Given the description of an element on the screen output the (x, y) to click on. 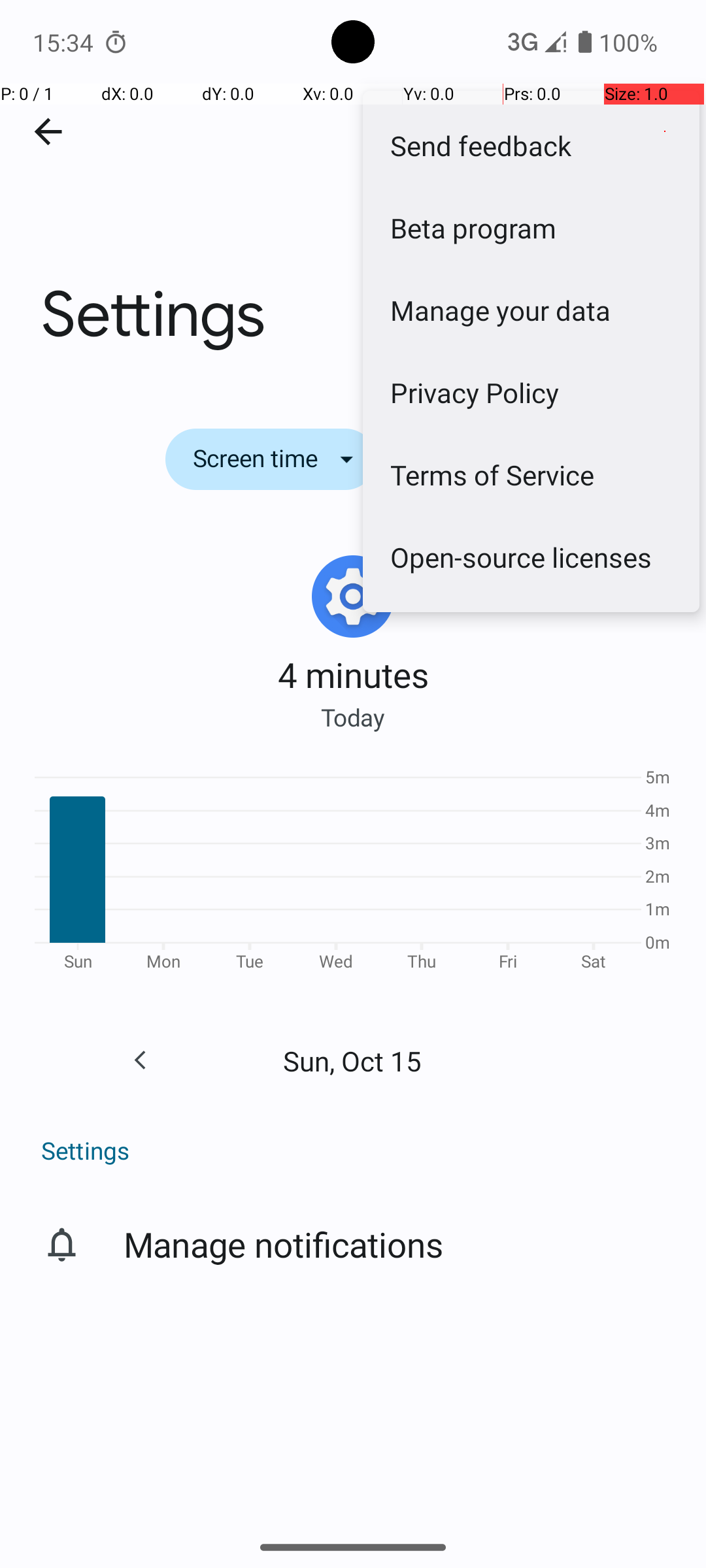
Send feedback Element type: android.widget.TextView (531, 144)
Beta program Element type: android.widget.TextView (531, 227)
Manage your data Element type: android.widget.TextView (531, 309)
Privacy Policy Element type: android.widget.TextView (531, 391)
Terms of Service Element type: android.widget.TextView (531, 474)
Open-source licenses Element type: android.widget.TextView (531, 556)
